Given the description of an element on the screen output the (x, y) to click on. 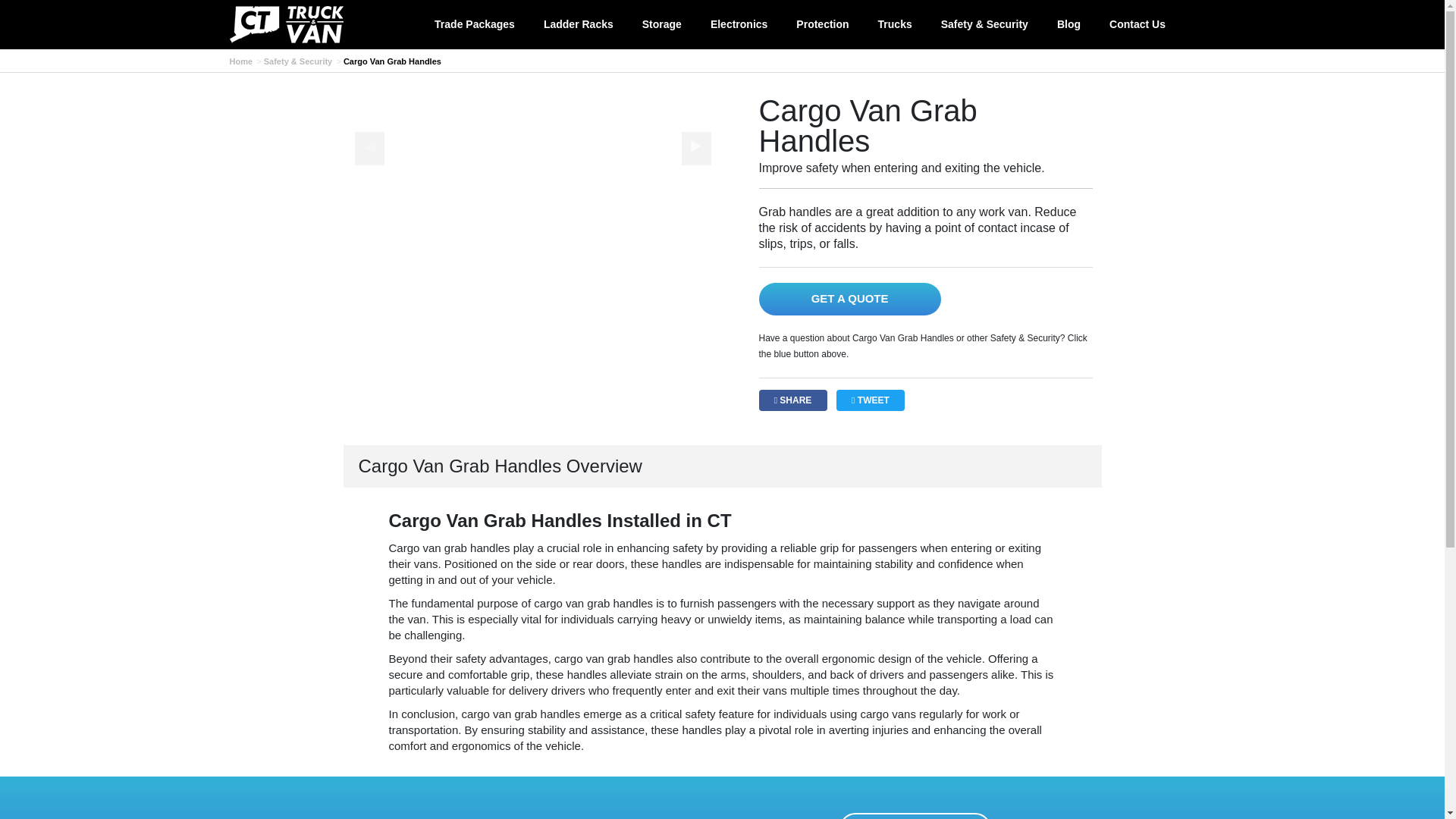
Electronics (738, 24)
Share on Twitter (869, 400)
Storage (661, 24)
Share on Facebook (792, 400)
Ladder Racks (578, 24)
Trade Packages (474, 24)
